Given the description of an element on the screen output the (x, y) to click on. 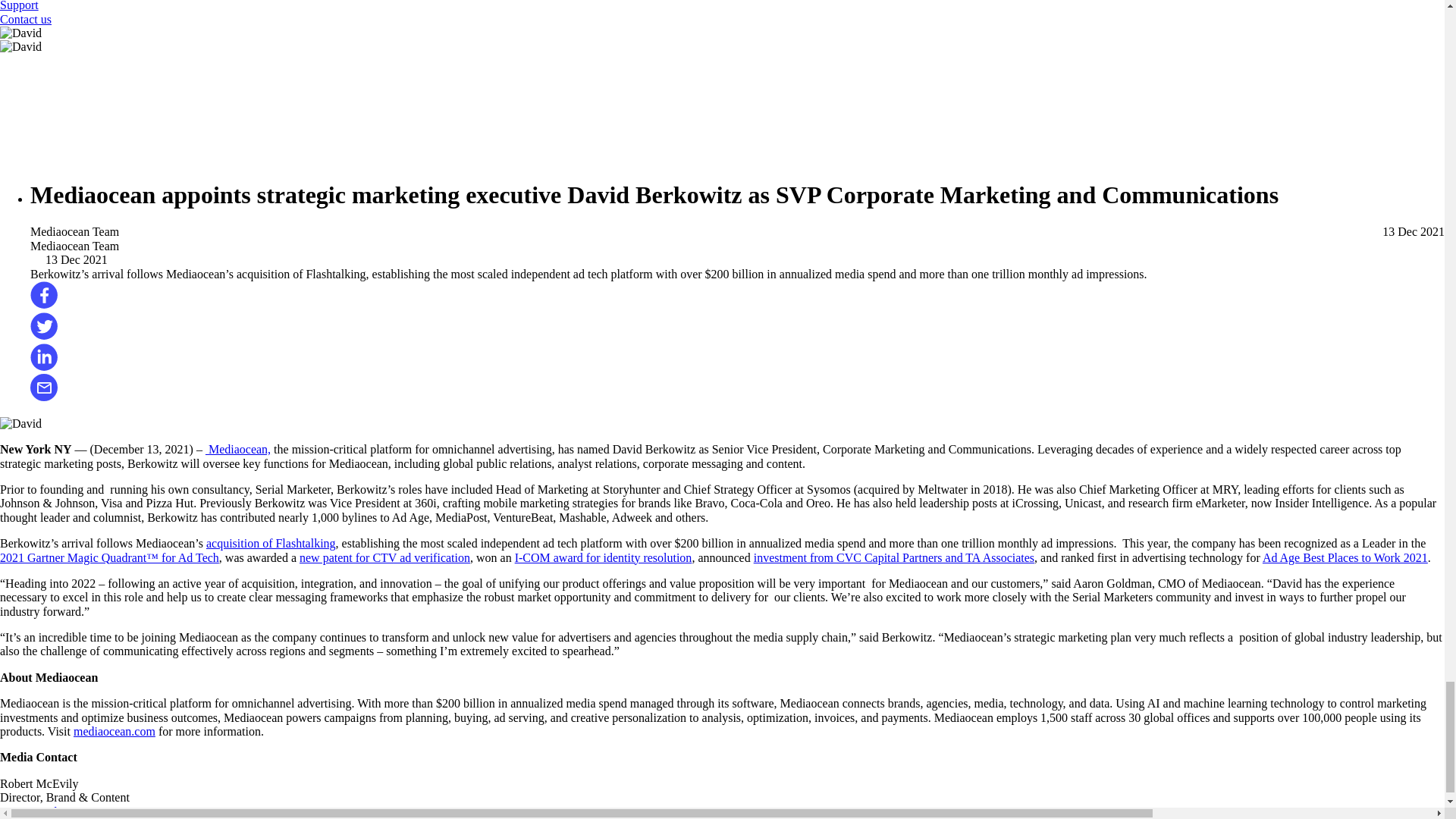
Share to E-mail (44, 396)
Share to Linkedin (44, 366)
Share to Twitter (44, 335)
Share to Facebook (44, 304)
